Given the description of an element on the screen output the (x, y) to click on. 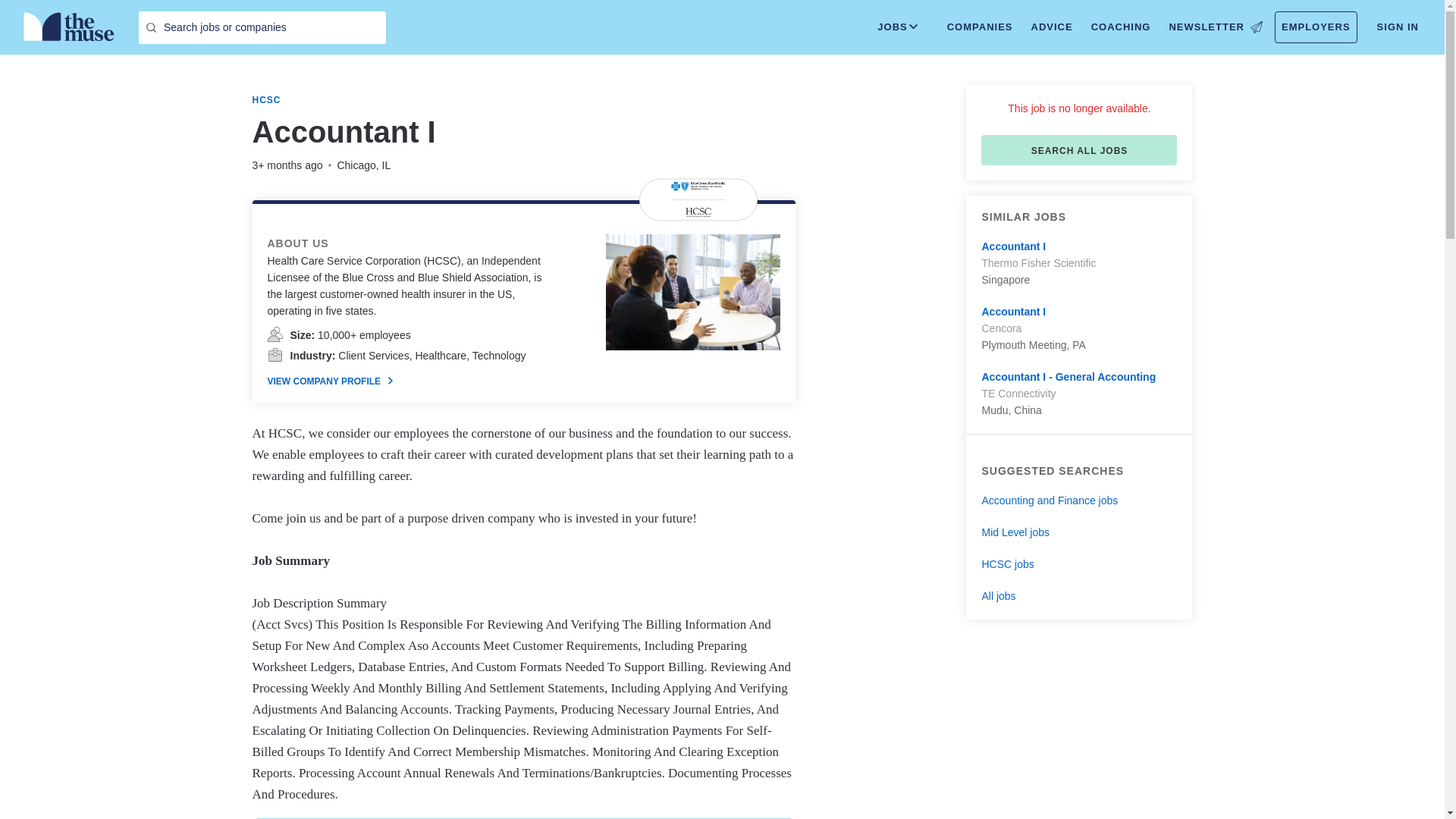
COMPANIES (979, 27)
NEWSLETTER (1214, 27)
VIEW COMPANY PROFILE (329, 381)
COACHING (1120, 27)
HCSC (266, 100)
SIGN IN (1398, 27)
ADVICE (1051, 27)
EMPLOYERS (1315, 27)
